Given the description of an element on the screen output the (x, y) to click on. 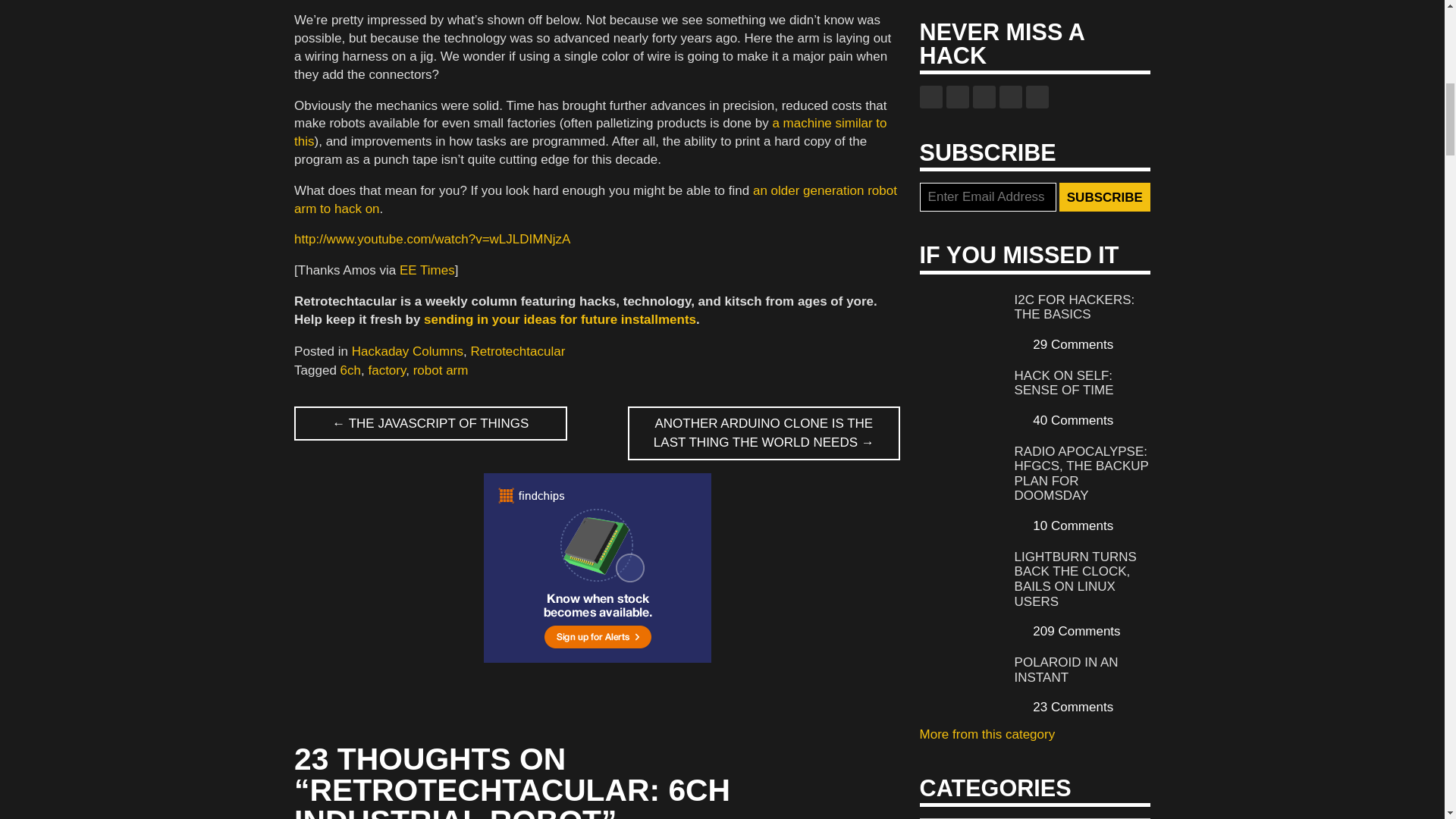
EE Times (426, 269)
6ch (350, 370)
Subscribe (1104, 196)
Hackaday Columns (407, 350)
factory (387, 370)
sending in your ideas for future installments (559, 319)
a machine similar to this (590, 132)
Retrotechtacular (518, 350)
robot arm (440, 370)
an older generation robot arm to hack on (595, 199)
